Given the description of an element on the screen output the (x, y) to click on. 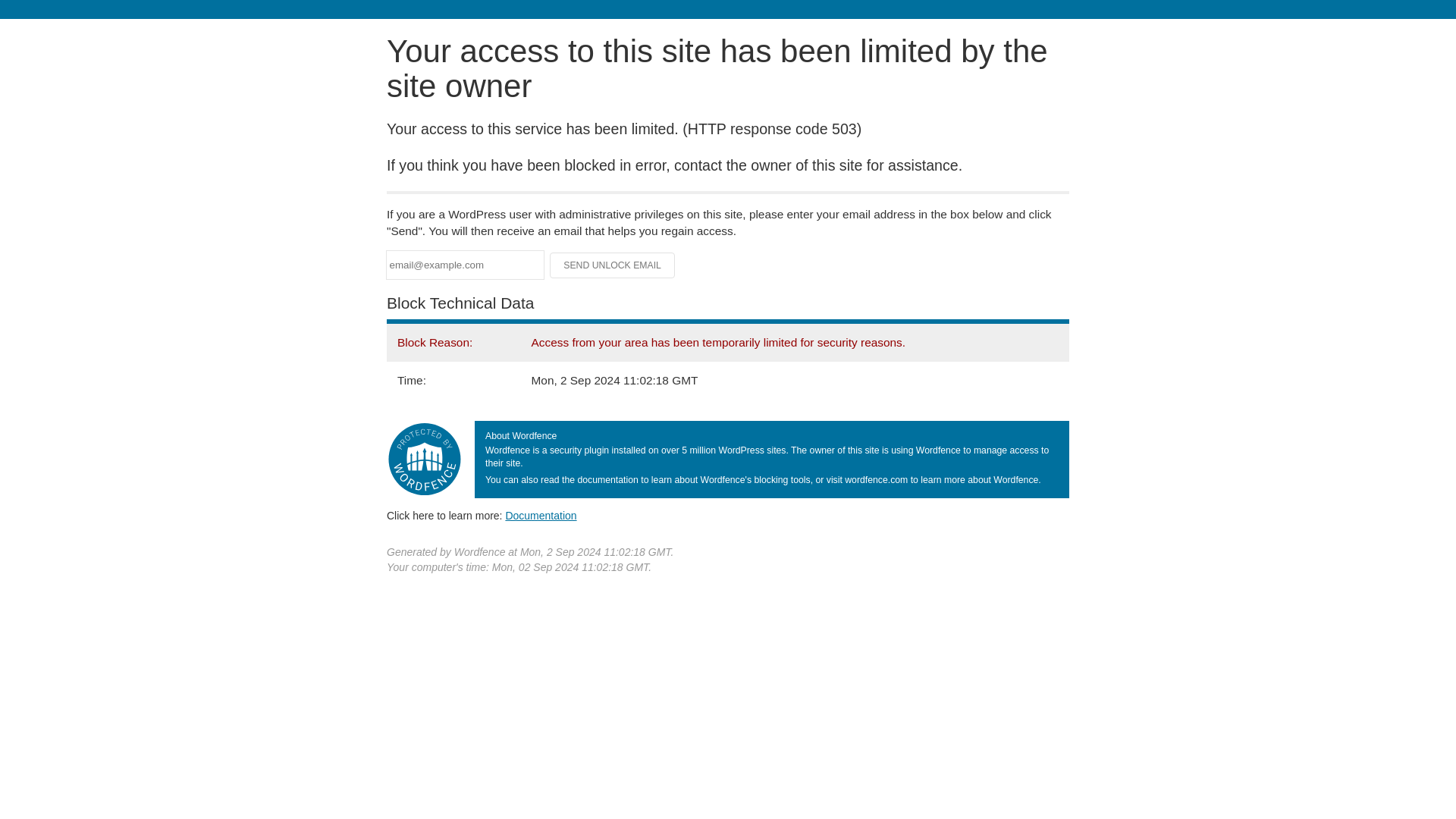
Documentation (540, 515)
Send Unlock Email (612, 265)
Send Unlock Email (612, 265)
